Given the description of an element on the screen output the (x, y) to click on. 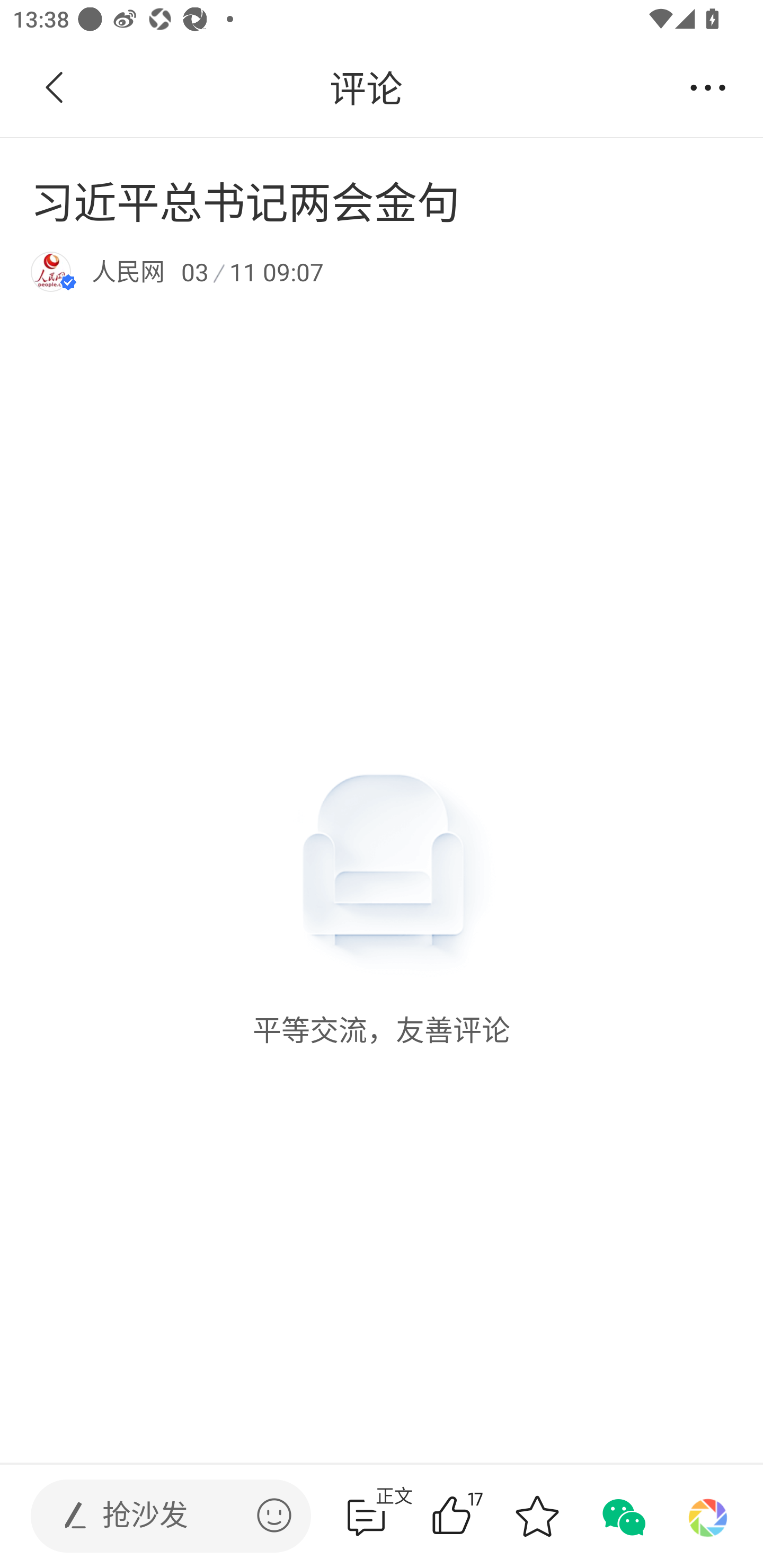
评论 (365, 87)
分享  (707, 87)
 返回 (54, 87)
人民网 (127, 271)
平等交流，友善评论 (381, 679)
发表评论  抢沙发 发表评论  (155, 1516)
抢评论  抢 评论 (365, 1516)
17赞 (476, 1516)
收藏  (536, 1516)
分享到微信  (622, 1516)
分享到朋友圈 (707, 1516)
 (274, 1515)
